Given the description of an element on the screen output the (x, y) to click on. 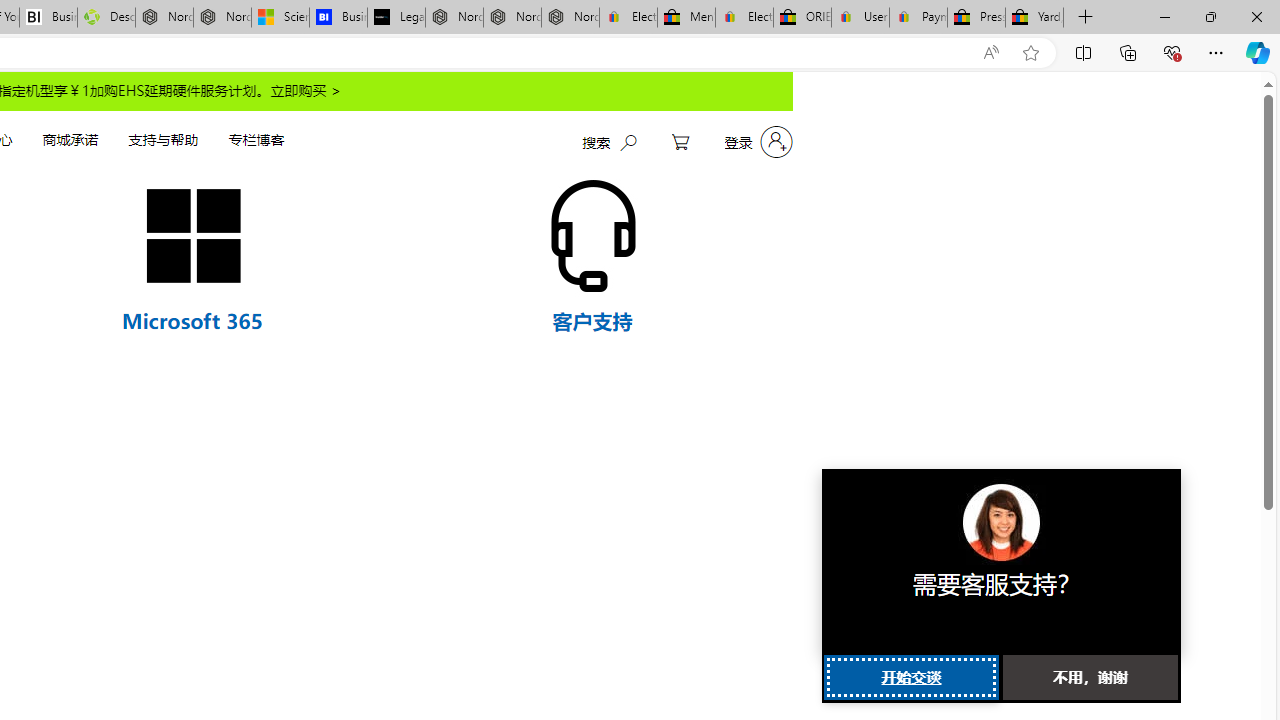
User Privacy Notice | eBay (860, 17)
Press Room - eBay Inc. (976, 17)
